Given the description of an element on the screen output the (x, y) to click on. 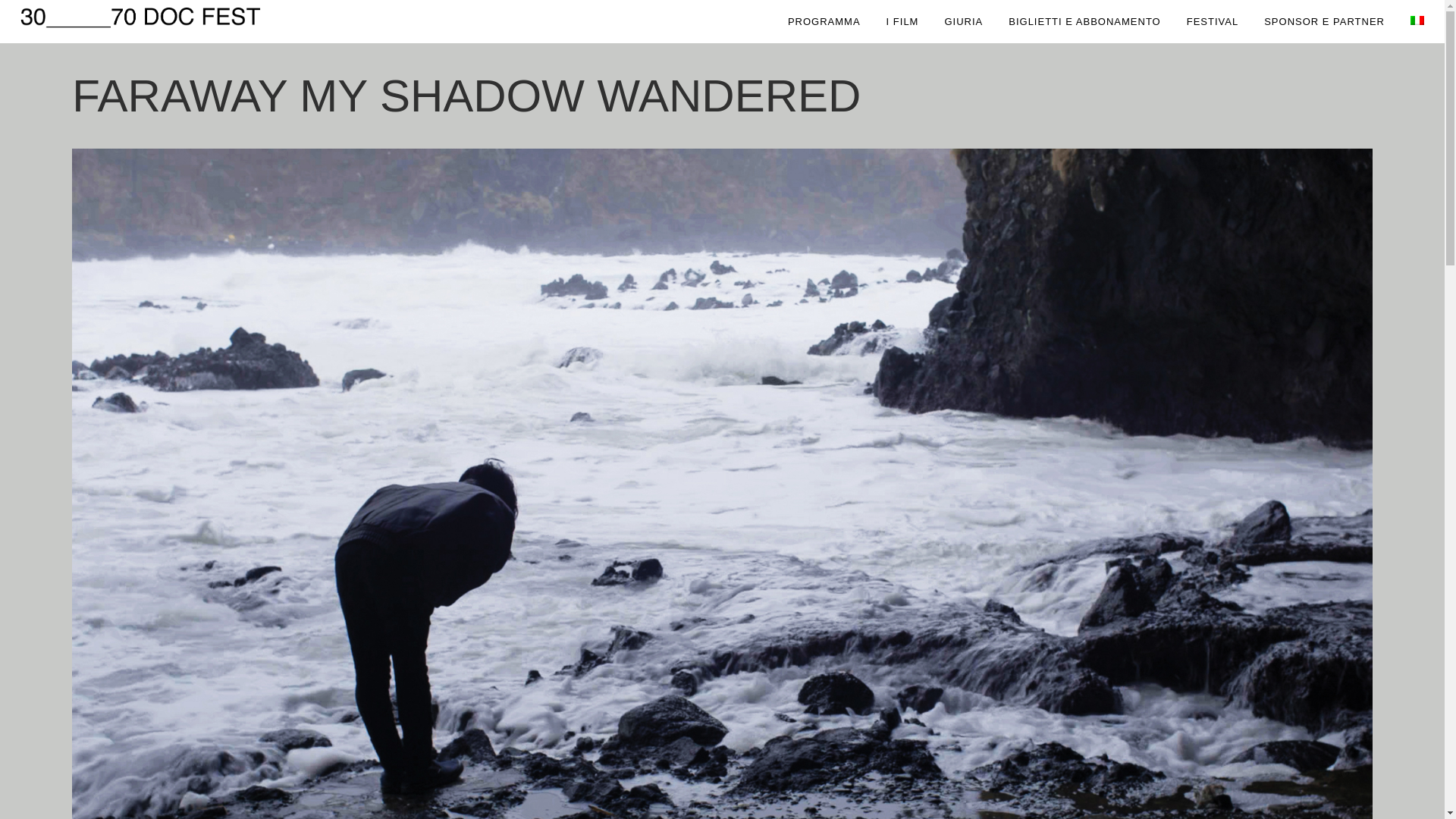
I FILM Element type: text (902, 21)
true Element type: text (1030, 635)
info@3070docfest.com Element type: text (1104, 630)
facebook Element type: text (1076, 669)
BIGLIETTI E ABBONAMENTO Element type: text (1084, 21)
youtube Element type: text (1074, 689)
instagram Element type: text (1077, 649)
SPONSOR E PARTNER Element type: text (1324, 21)
PROGRAMMA Element type: text (824, 21)
GIURIA Element type: text (963, 21)
area stampa Element type: text (1081, 709)
FESTIVAL Element type: text (1212, 21)
